Given the description of an element on the screen output the (x, y) to click on. 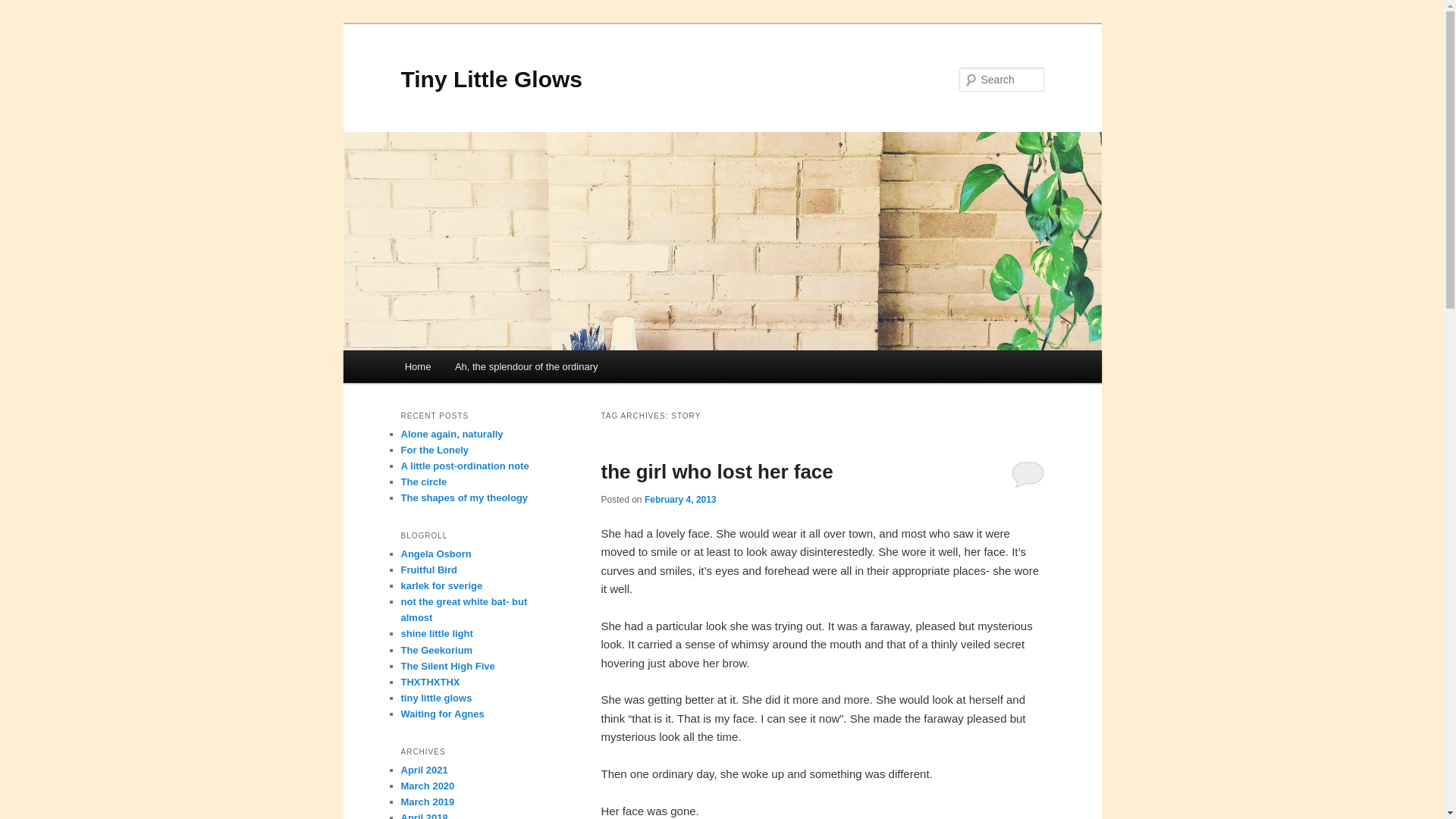
Search (24, 8)
THXTHXTHX (430, 681)
The Geekorium (435, 650)
A little post-ordination note (464, 465)
Home (417, 366)
karlek for sverige (440, 585)
the girl who lost her face (715, 471)
Ah, the splendour of the ordinary (526, 366)
Fruitful Bird (428, 569)
Tiny Little Glows (490, 78)
